Given the description of an element on the screen output the (x, y) to click on. 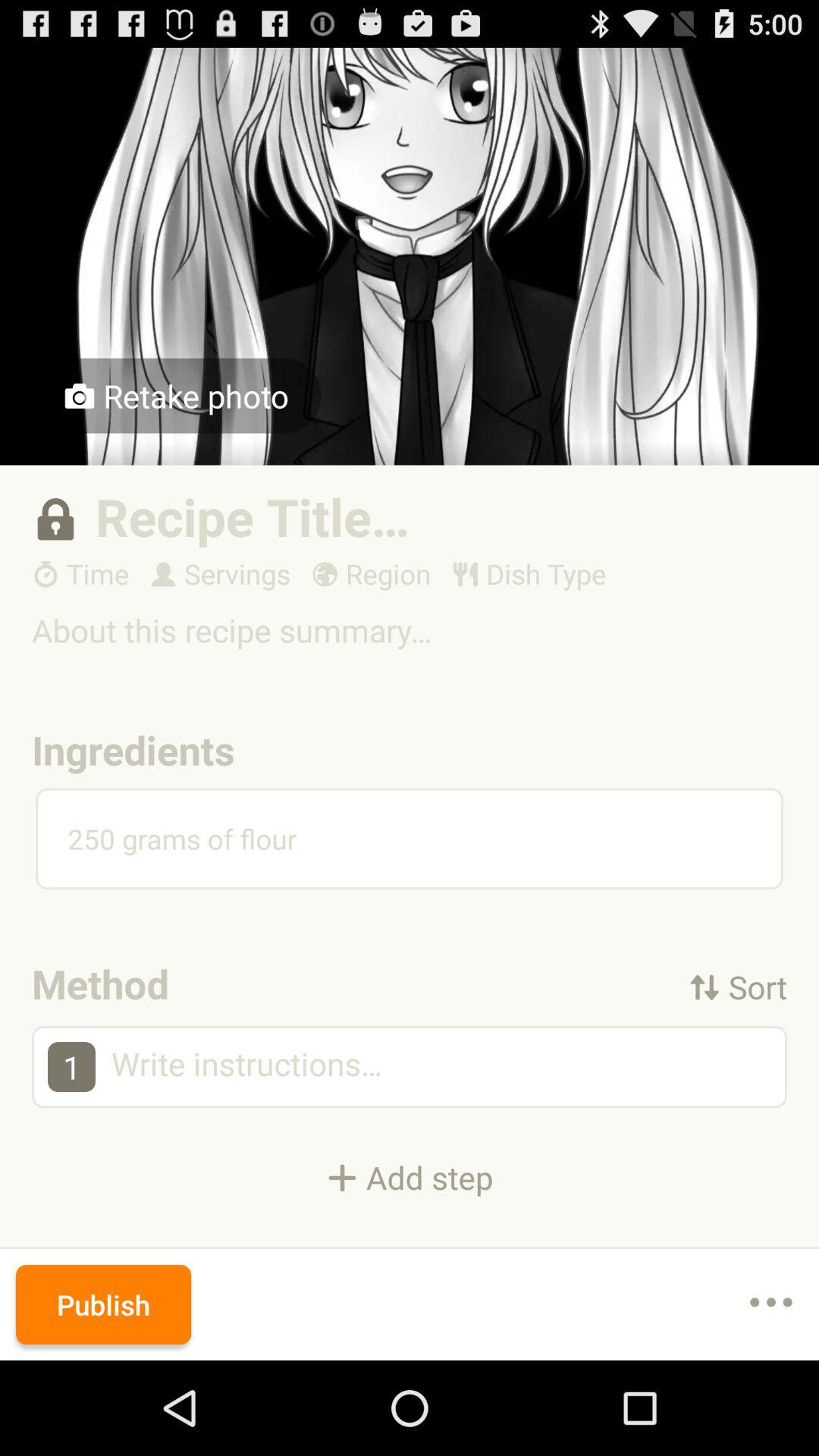
launch the + add step (409, 1176)
